Given the description of an element on the screen output the (x, y) to click on. 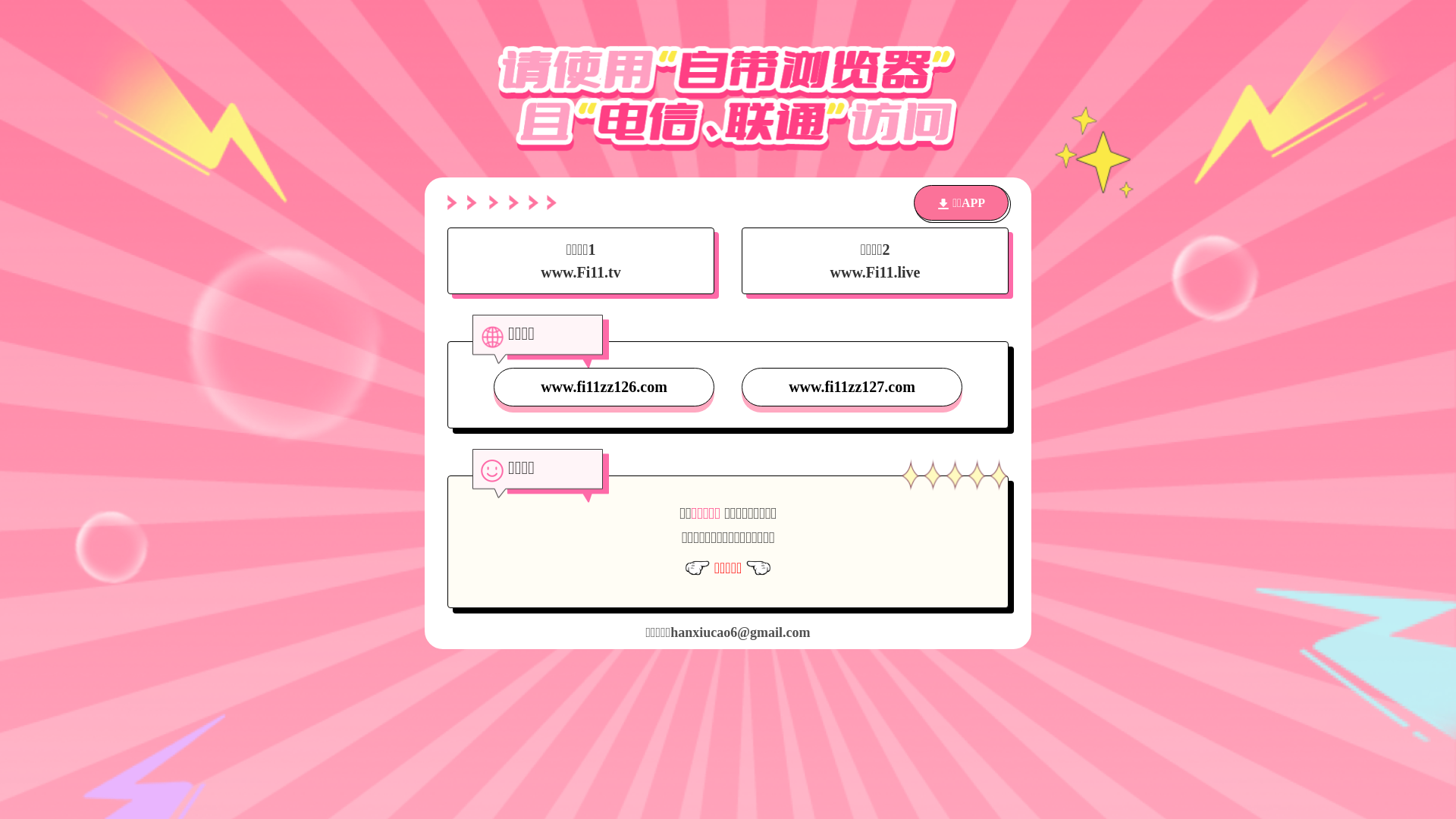
www.fi11zz127.com Element type: text (851, 386)
www.fi11zz126.com Element type: text (603, 386)
